Given the description of an element on the screen output the (x, y) to click on. 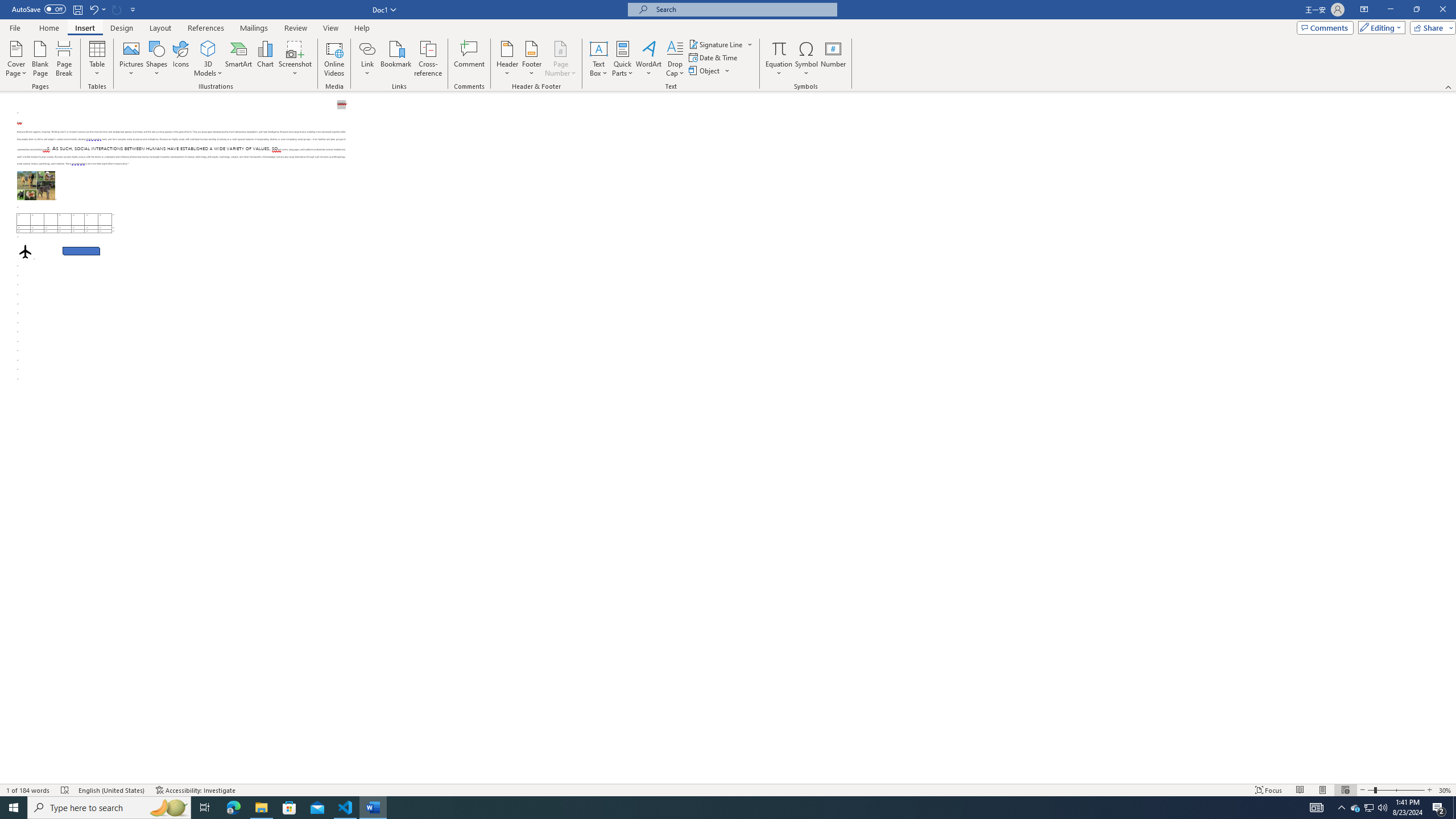
Signature Line (721, 44)
Undo Apply Quick Style Set (92, 9)
Shapes (156, 58)
File Tab (15, 27)
Collapse the Ribbon (1448, 86)
Class: MsoCommandBar (728, 45)
Insert (83, 28)
Customize Quick Access Toolbar (133, 9)
3D Models (208, 58)
Editing (1379, 27)
Spelling and Grammar Check Errors (65, 790)
Comments (1325, 27)
Link (367, 58)
System (6, 6)
WordArt (648, 58)
